Given the description of an element on the screen output the (x, y) to click on. 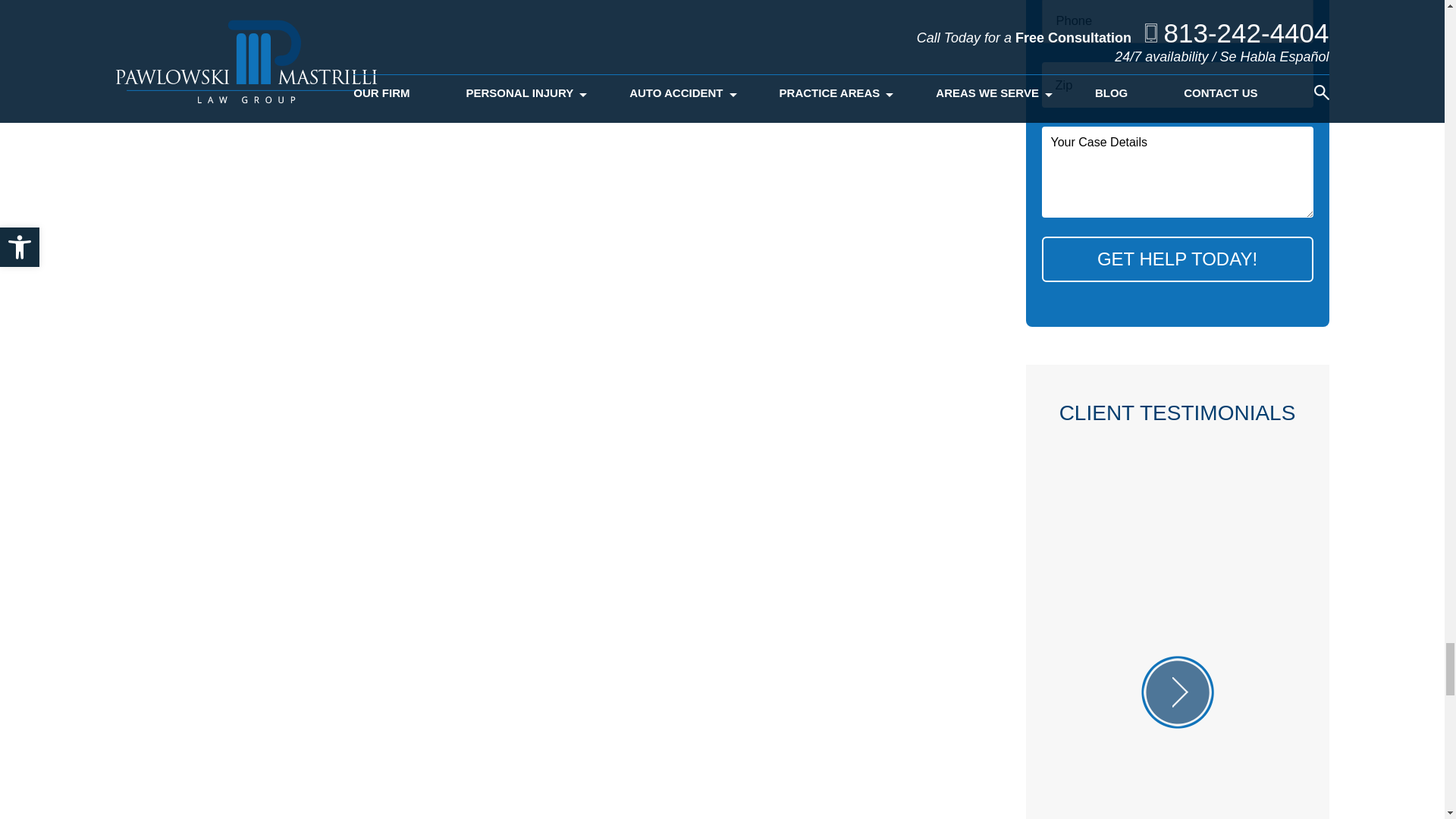
Get Help Today! (1177, 258)
